Given the description of an element on the screen output the (x, y) to click on. 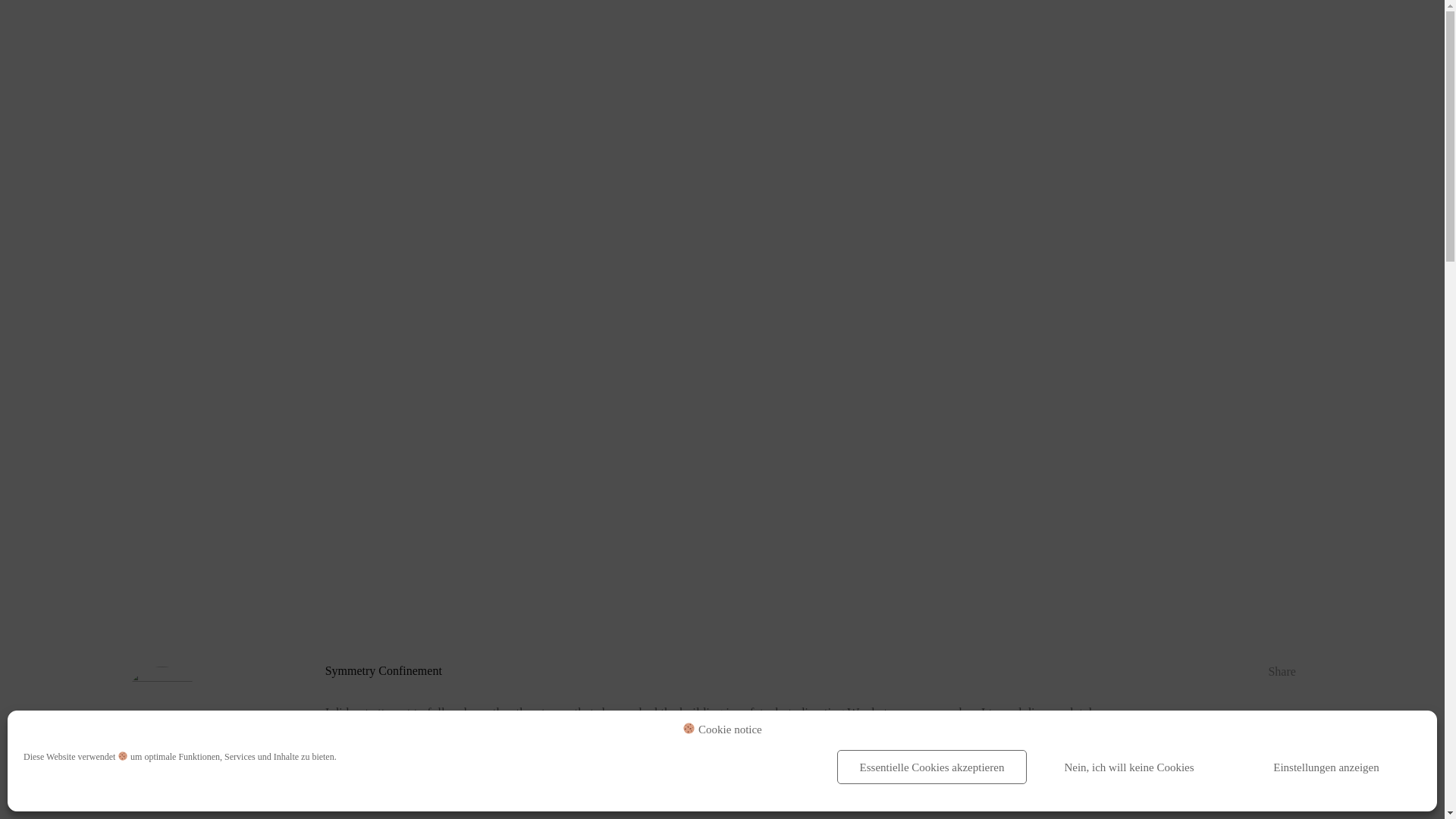
Architecture (292, 312)
Colorless (366, 312)
Nein, ich will keine Cookies (1128, 766)
ACCESSORIES (756, 30)
View all posts in Colorless (366, 312)
View all posts in Architecture (292, 312)
Einstellungen anzeigen (1326, 766)
Essentielle Cookies akzeptieren (931, 766)
